Given the description of an element on the screen output the (x, y) to click on. 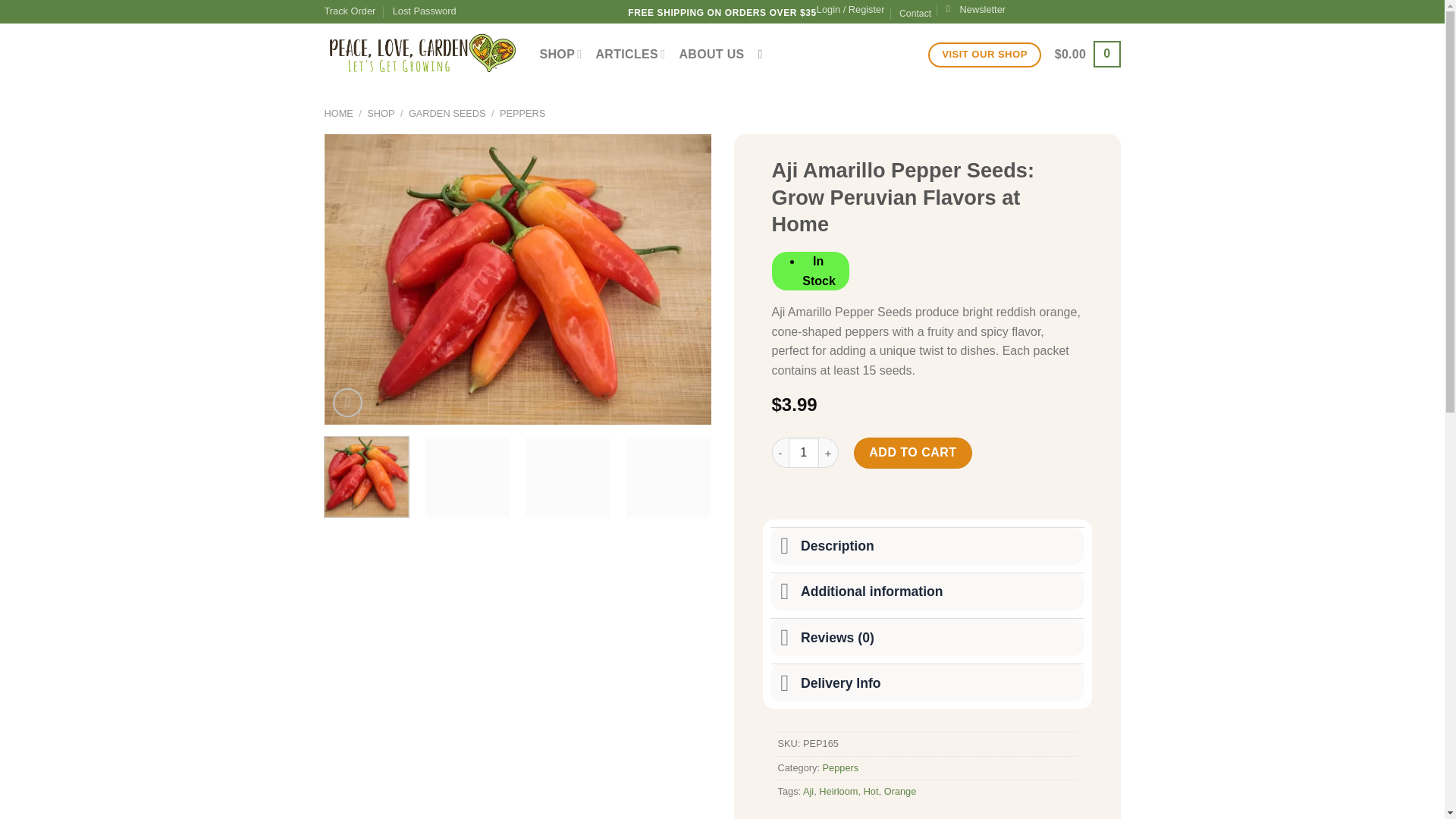
ARTICLES (630, 53)
Contact (915, 13)
VISIT OUR SHOP (984, 54)
Cart (1087, 53)
HOME (338, 112)
Join the Club (976, 9)
Track Order (349, 11)
SHOP (561, 53)
ABOUT US (711, 53)
Zoom (347, 402)
